Given the description of an element on the screen output the (x, y) to click on. 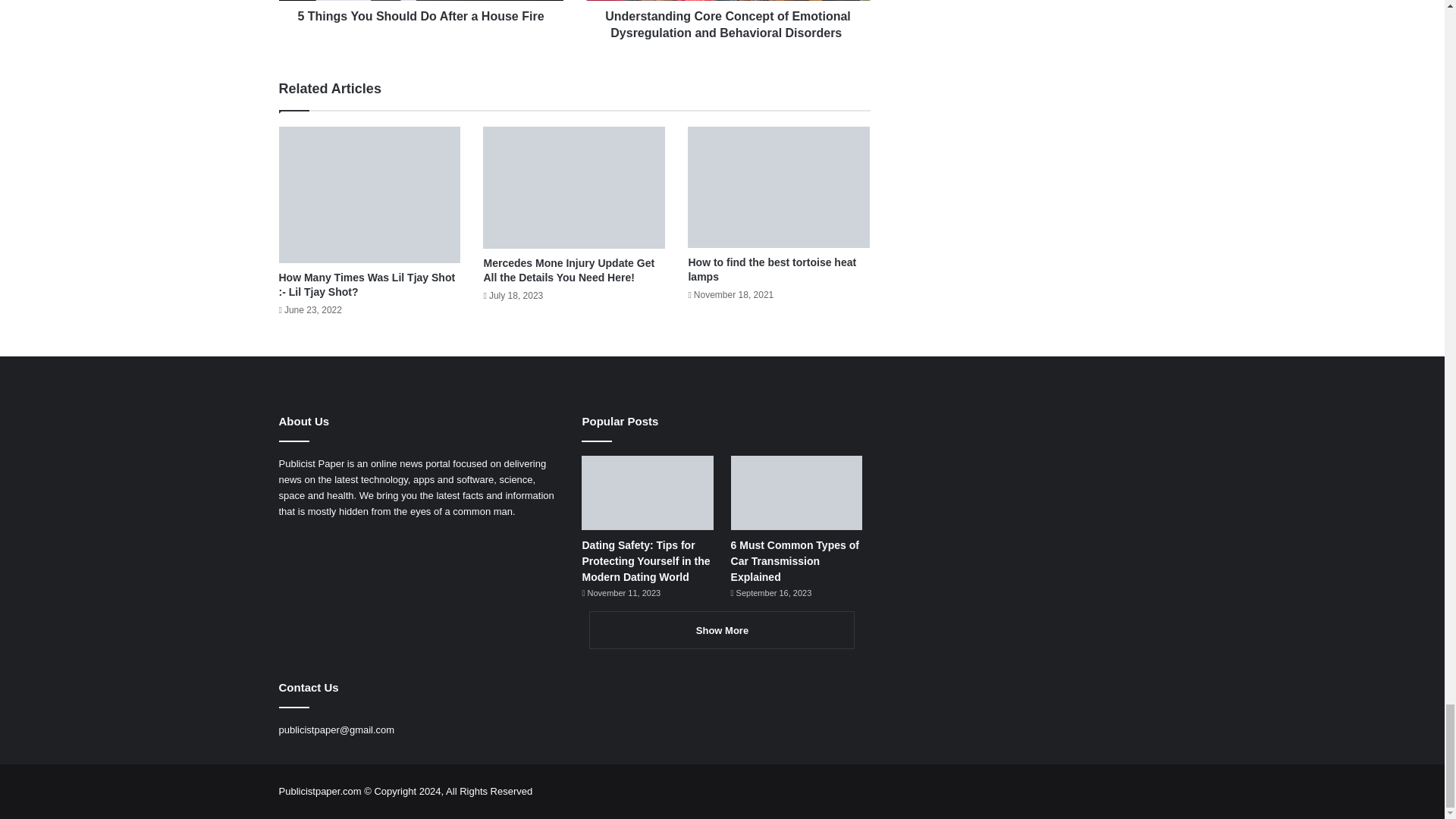
How Many Times Was Lil Tjay Shot :- Lil Tjay Shot? (367, 284)
5 Things You Should Do After a House Fire (421, 12)
